Given the description of an element on the screen output the (x, y) to click on. 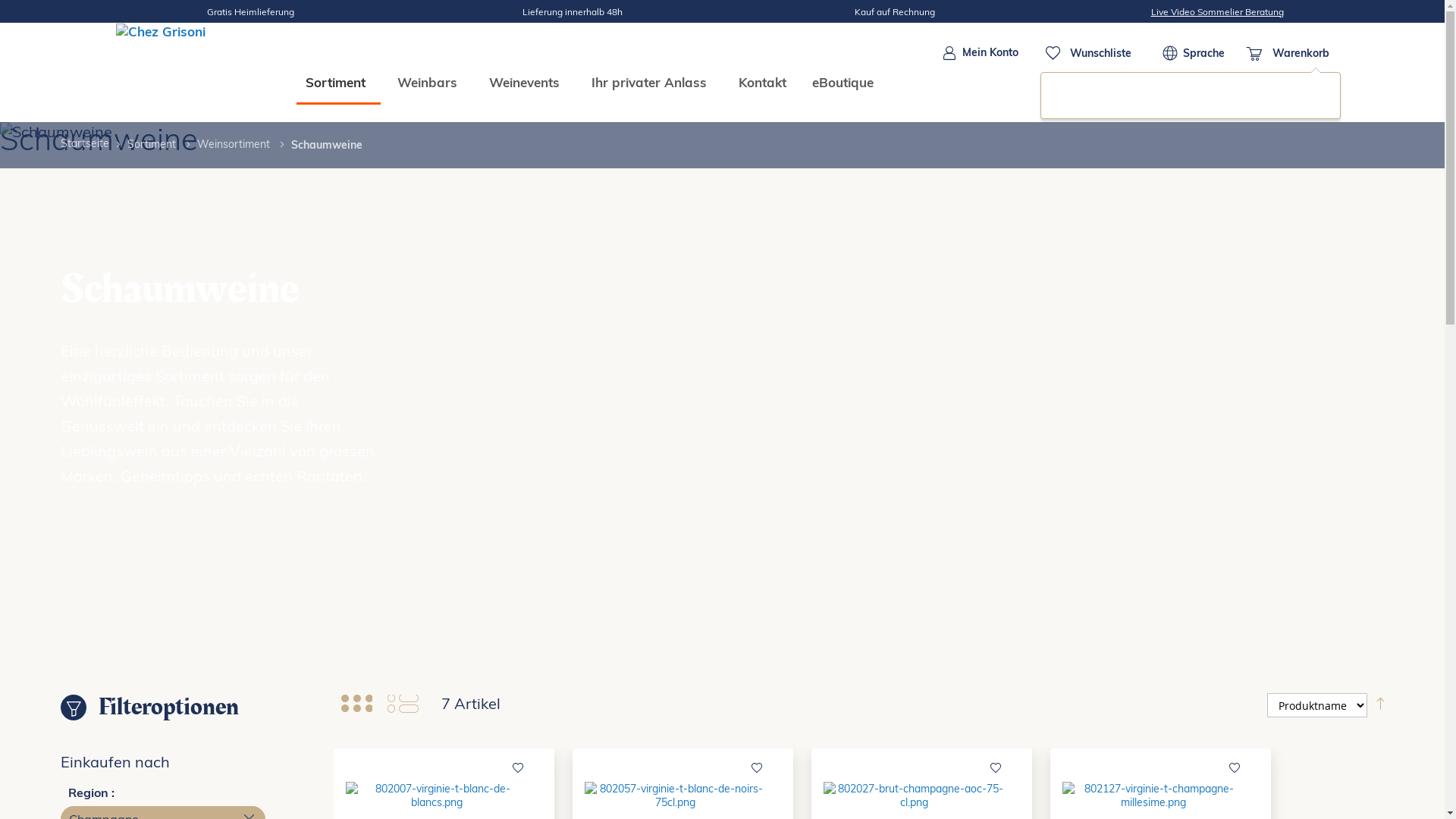
Chez Grisoni Element type: hover (179, 72)
Weinbars Element type: text (430, 82)
Warenkorb Element type: text (1287, 52)
Liste Element type: text (402, 703)
Direkt zum Inhalt Element type: text (1116, 53)
eBoutique Element type: text (841, 82)
Schaumweine Element type: hover (722, 387)
Mein Konto Element type: text (980, 52)
Ihr privater Anlass Element type: text (651, 82)
Live Video Sommelier Beratung Element type: text (1217, 11)
Wunschliste Element type: text (1089, 52)
Sortiment Element type: text (152, 143)
Startseite Element type: text (84, 144)
Weinsortiment Element type: text (235, 143)
Kontakt Element type: text (762, 82)
Sortiment Element type: text (337, 83)
In absteigender Reihenfolge Element type: text (1379, 703)
Weinevents Element type: text (526, 82)
